Given the description of an element on the screen output the (x, y) to click on. 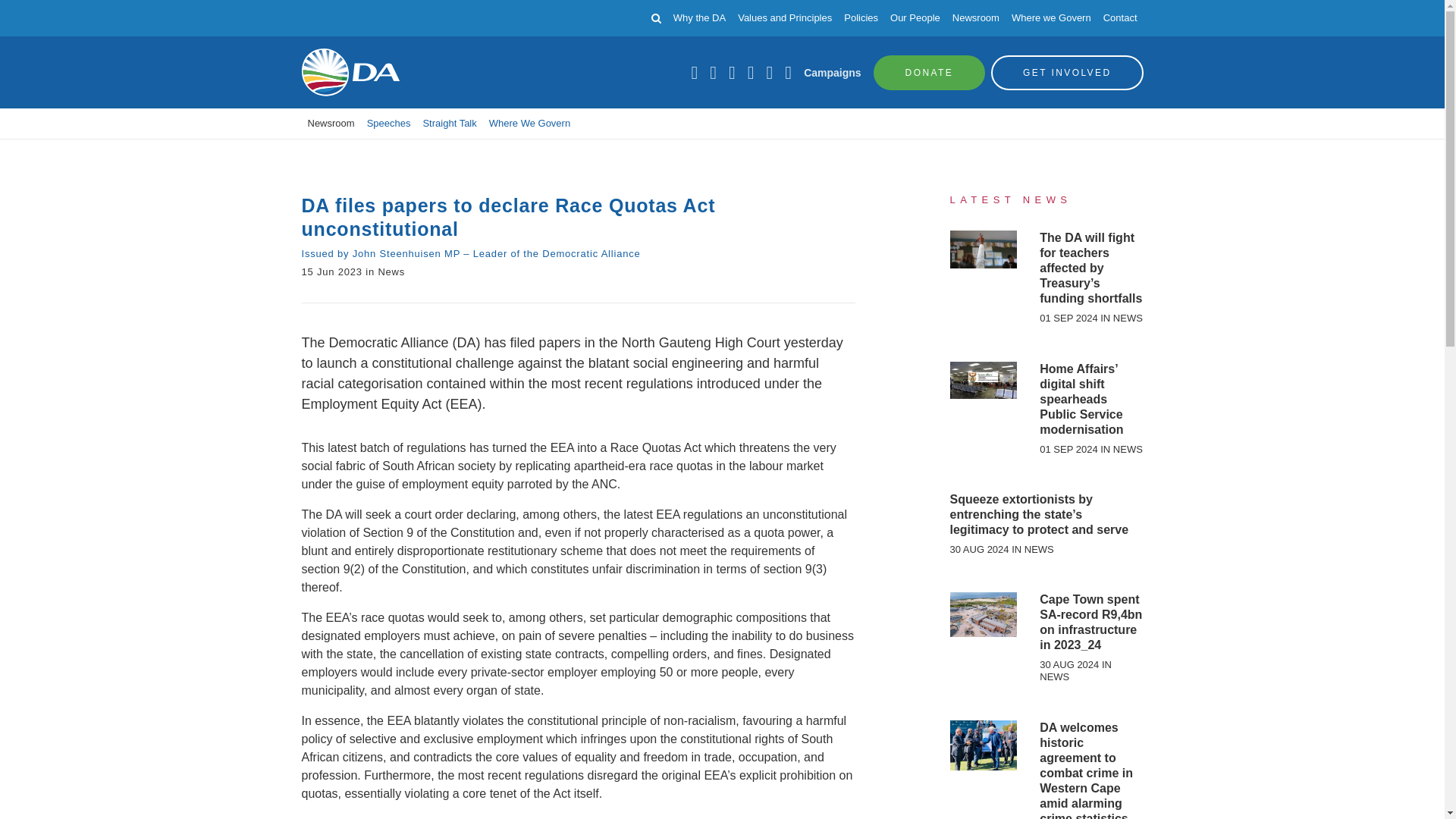
Get Involved (1066, 70)
DONATE (929, 71)
Contact (1120, 17)
Policies (860, 17)
Newsroom (975, 17)
Democratic Alliance Logo (350, 72)
Newsroom (331, 122)
GET INVOLVED (1066, 70)
Straight Talk (449, 122)
Where we Govern (1050, 17)
